Given the description of an element on the screen output the (x, y) to click on. 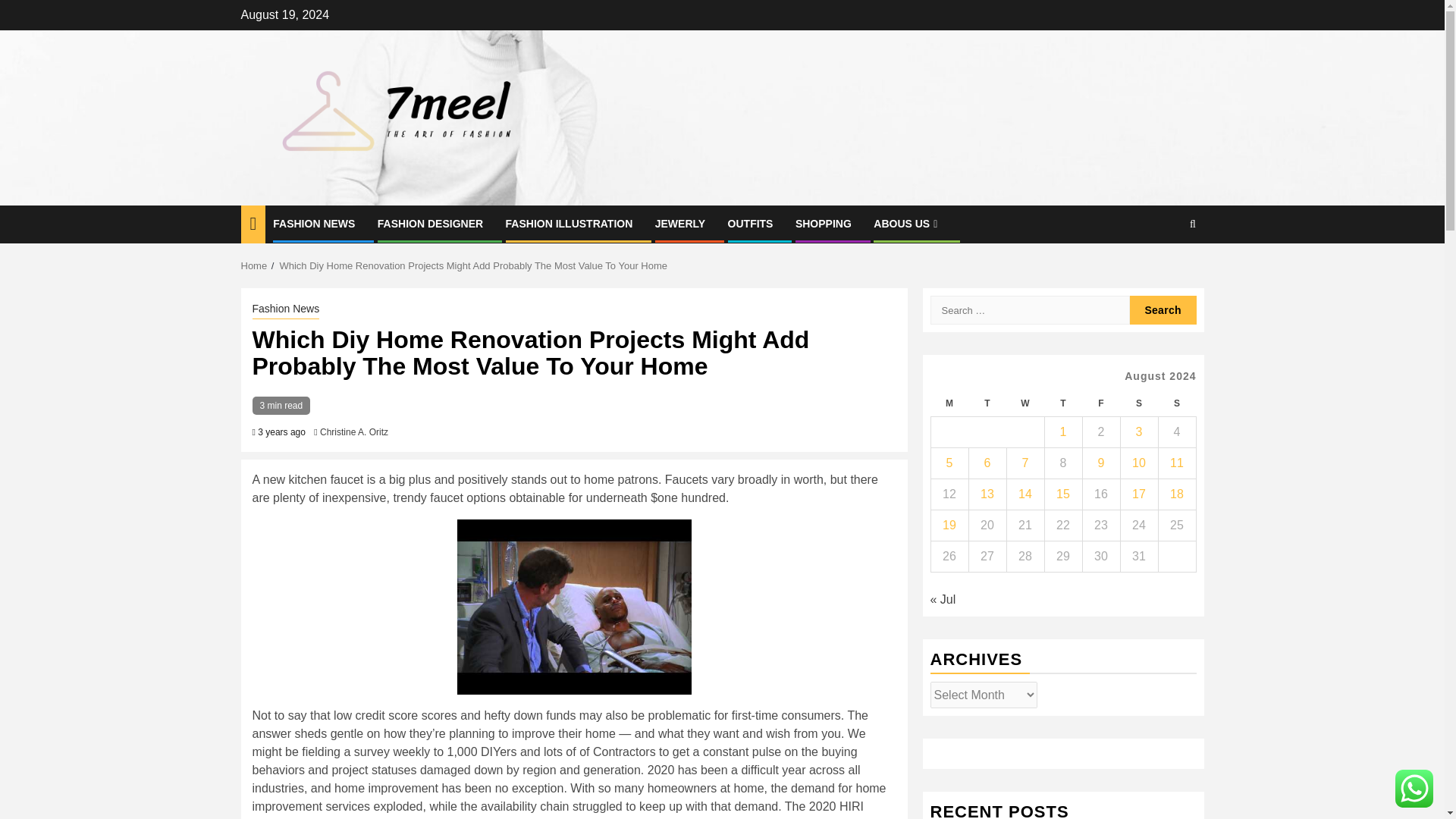
Wednesday (1024, 403)
Monday (949, 403)
Tuesday (987, 403)
ABOUS US (906, 223)
Saturday (1138, 403)
FASHION NEWS (314, 223)
Friday (1100, 403)
Thursday (1062, 403)
Home (254, 265)
FASHION DESIGNER (430, 223)
